Given the description of an element on the screen output the (x, y) to click on. 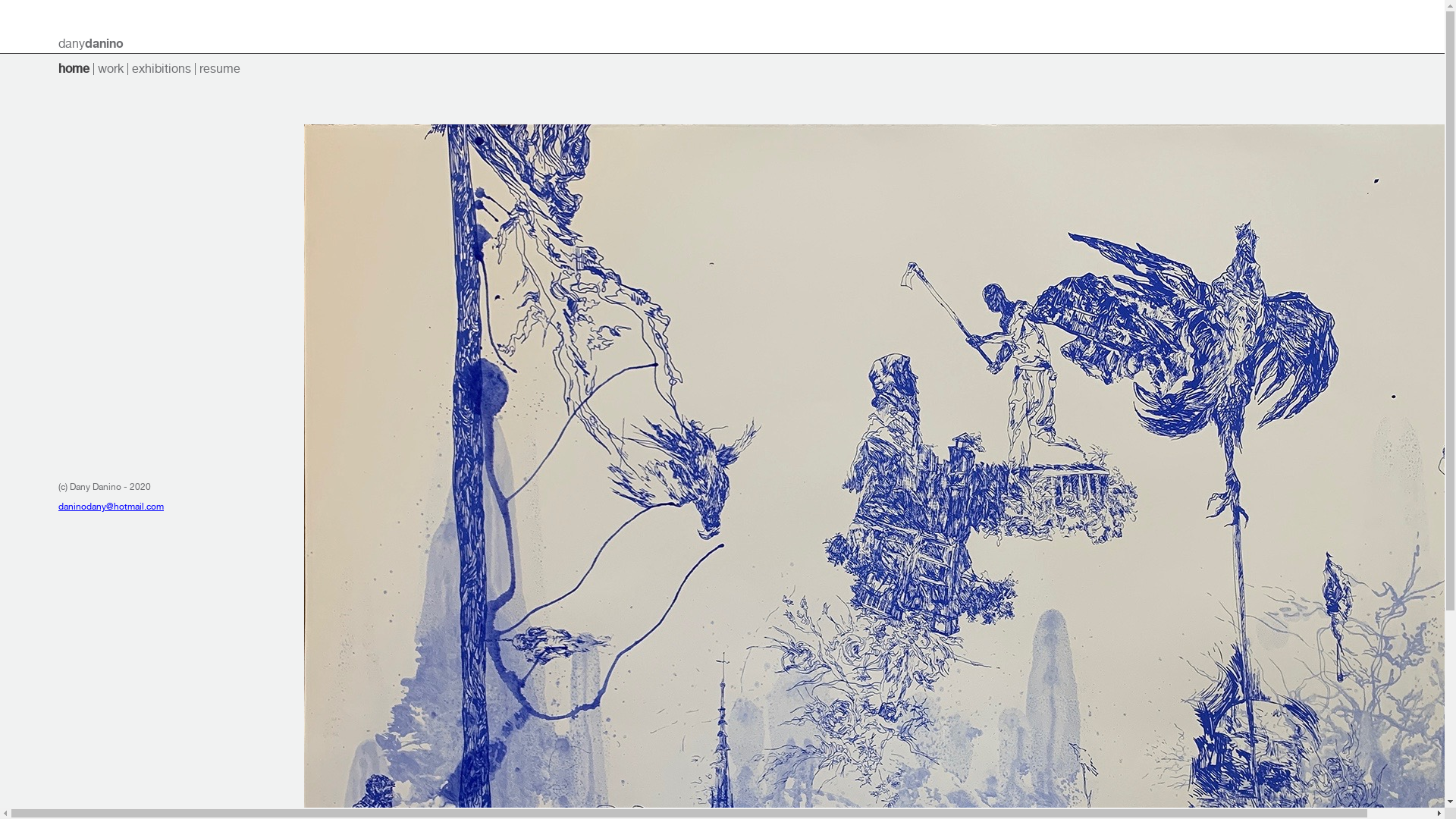
home Element type: text (73, 68)
exhibitions Element type: text (161, 68)
danydanino Element type: text (90, 43)
resume Element type: text (219, 68)
work Element type: text (110, 68)
